Given the description of an element on the screen output the (x, y) to click on. 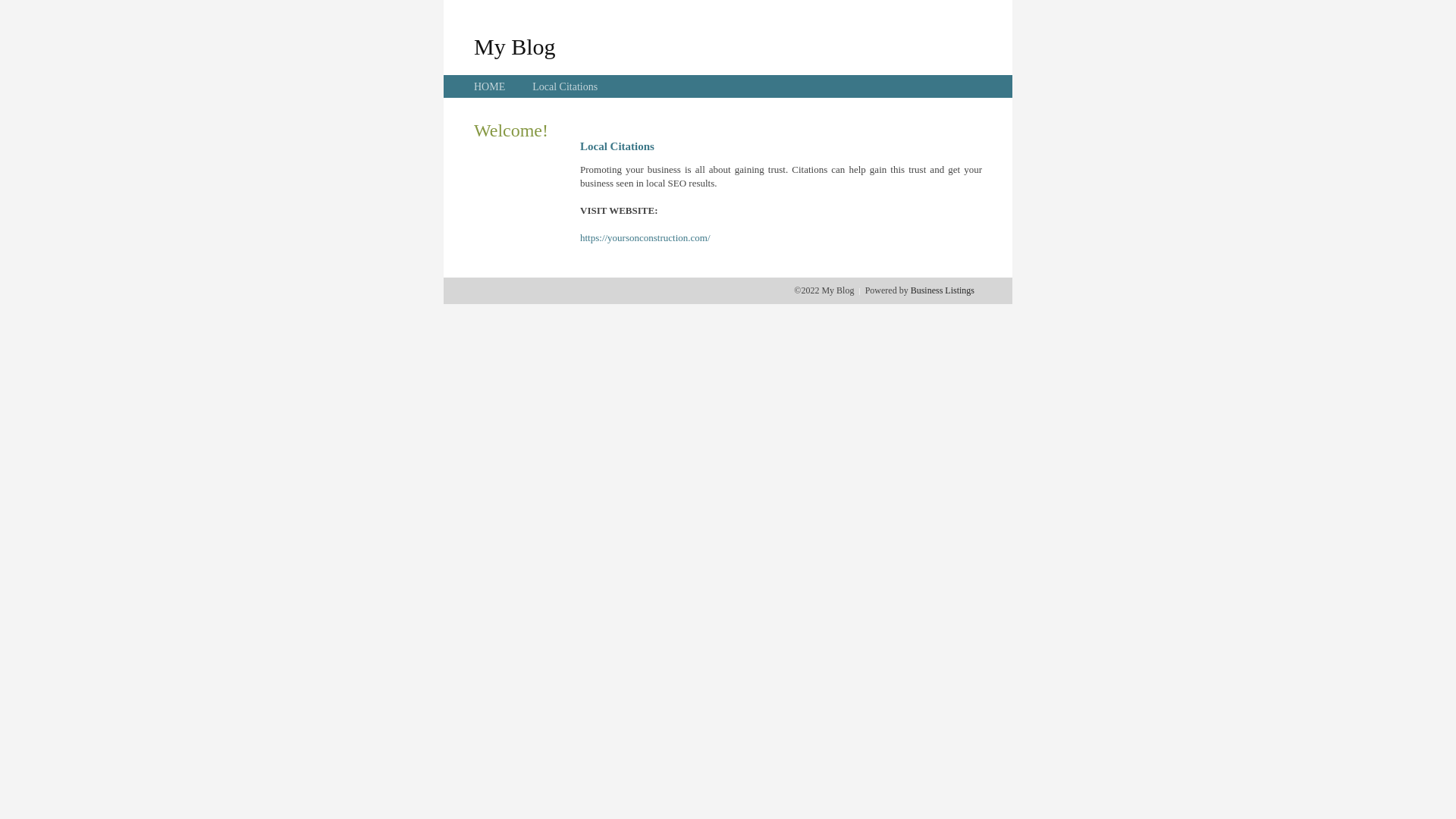
Local Citations Element type: text (564, 86)
HOME Element type: text (489, 86)
My Blog Element type: text (514, 46)
Business Listings Element type: text (942, 290)
https://yoursonconstruction.com/ Element type: text (645, 237)
